Given the description of an element on the screen output the (x, y) to click on. 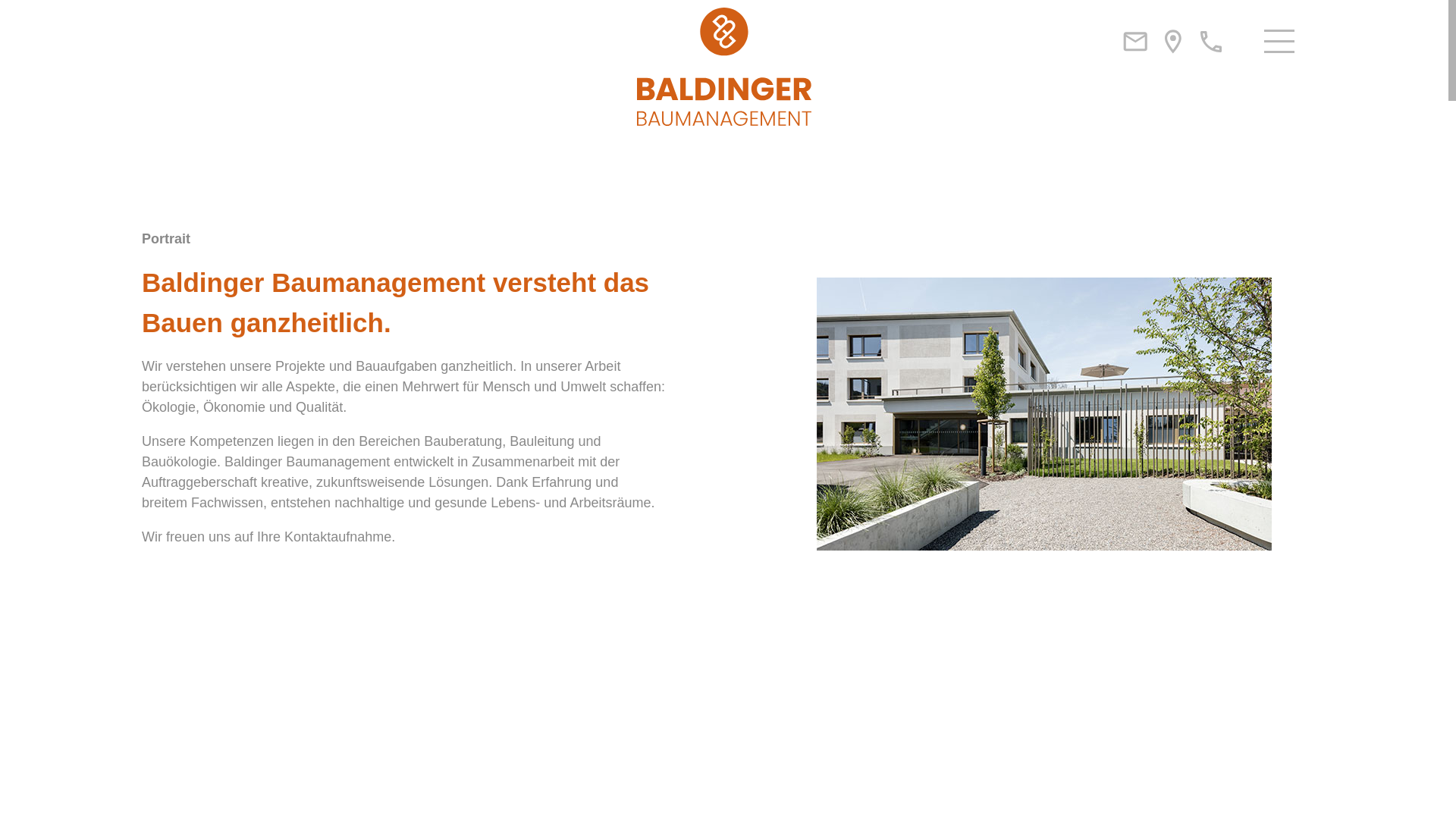
  Element type: text (190, 576)
  Element type: text (156, 576)
